Given the description of an element on the screen output the (x, y) to click on. 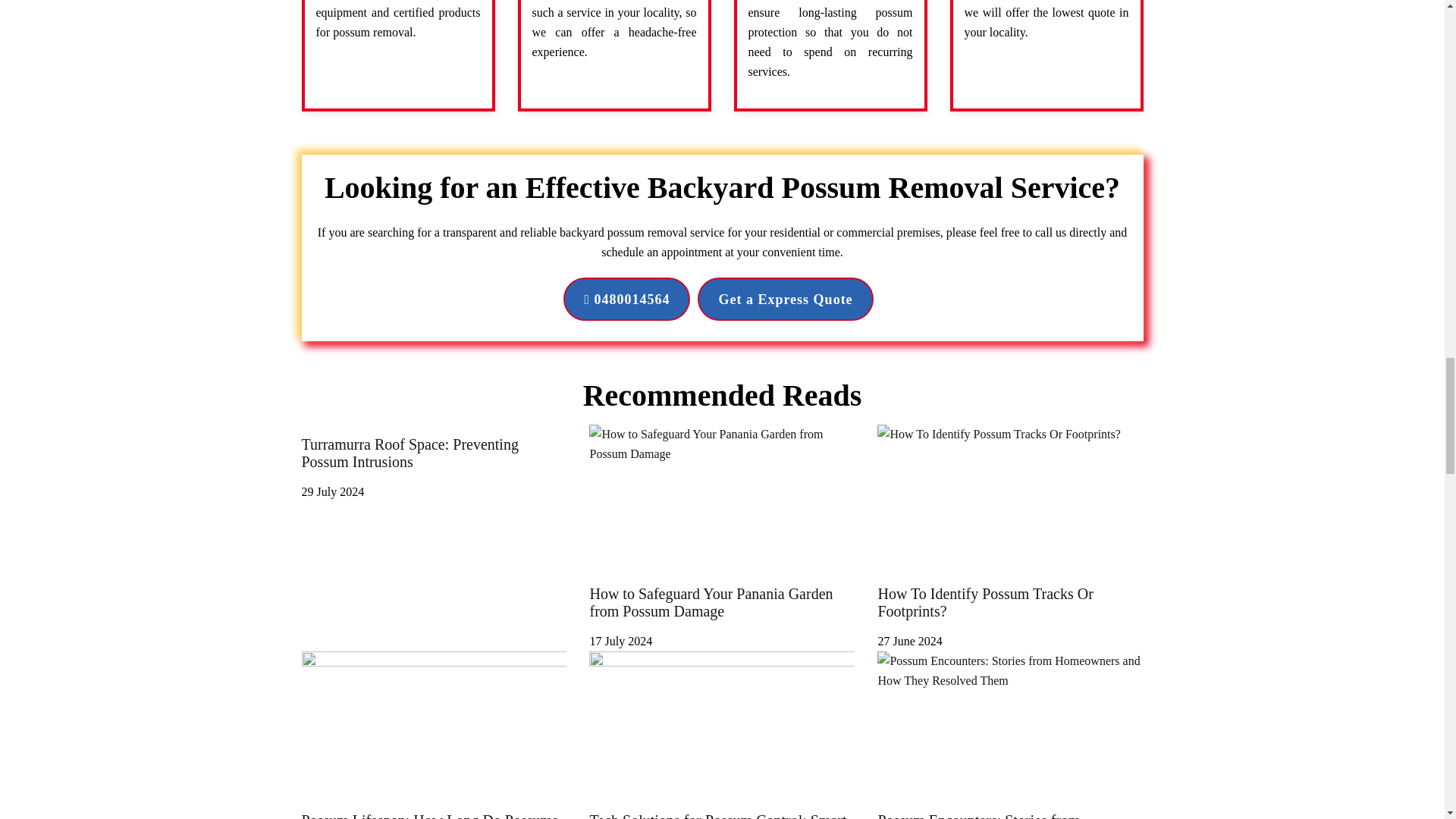
How To Identify Possum Tracks Or Footprints? (1009, 610)
How to Safeguard Your Panania Garden from Possum Damage (721, 610)
0480014564 (626, 299)
Possum Lifespan: How Long Do Possums Live? (434, 809)
Get a Express Quote (784, 299)
Turramurra Roof Space: Preventing Possum Intrusions (434, 461)
